Given the description of an element on the screen output the (x, y) to click on. 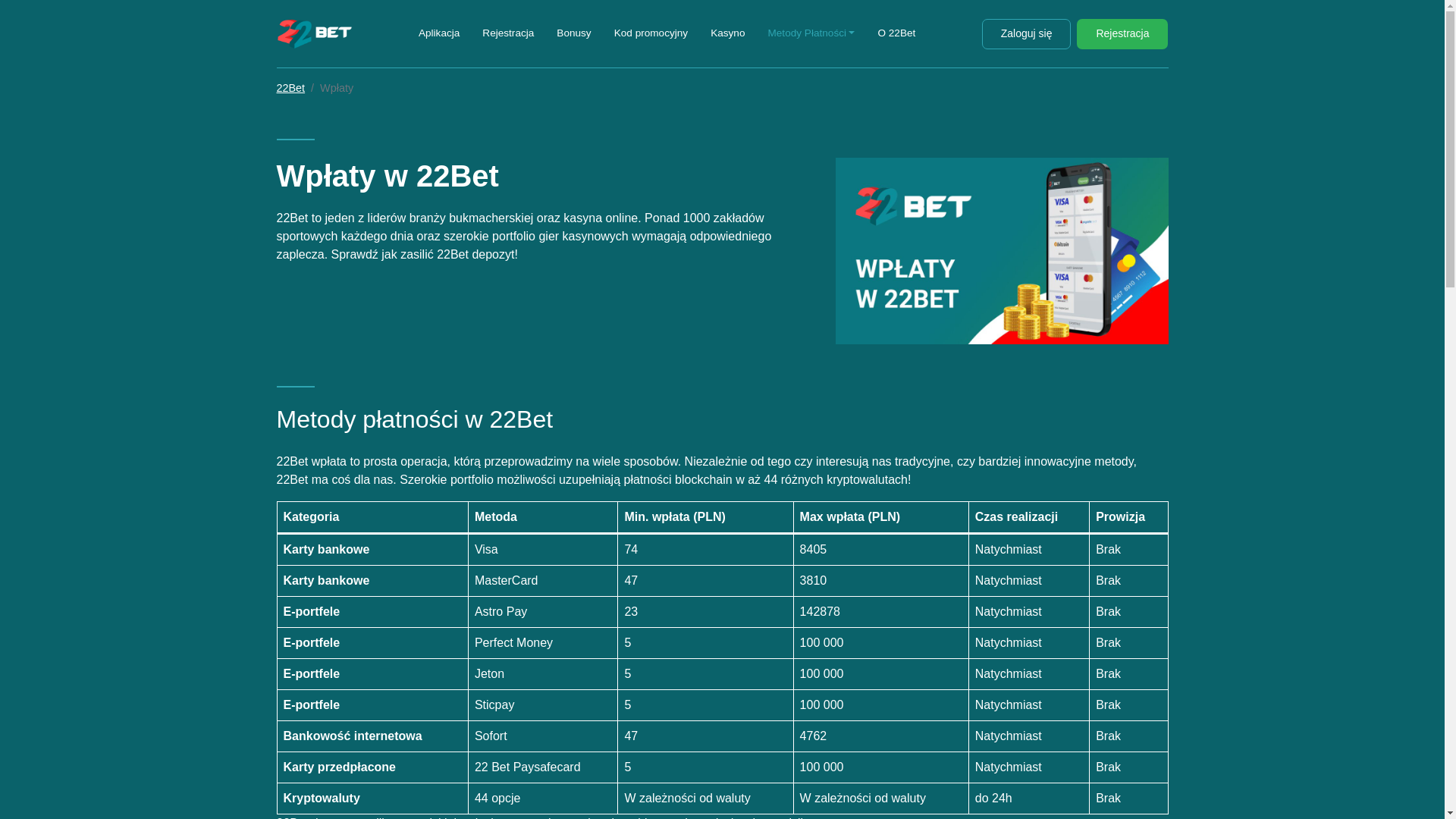
22Bet Element type: text (290, 87)
Kod promocyjny Element type: text (650, 32)
Aplikacja Element type: text (438, 32)
Rejestracja Element type: text (507, 32)
Bonusy Element type: text (573, 32)
Kasyno Element type: text (727, 32)
O 22Bet Element type: text (896, 32)
Rejestracja Element type: text (1121, 33)
